Given the description of an element on the screen output the (x, y) to click on. 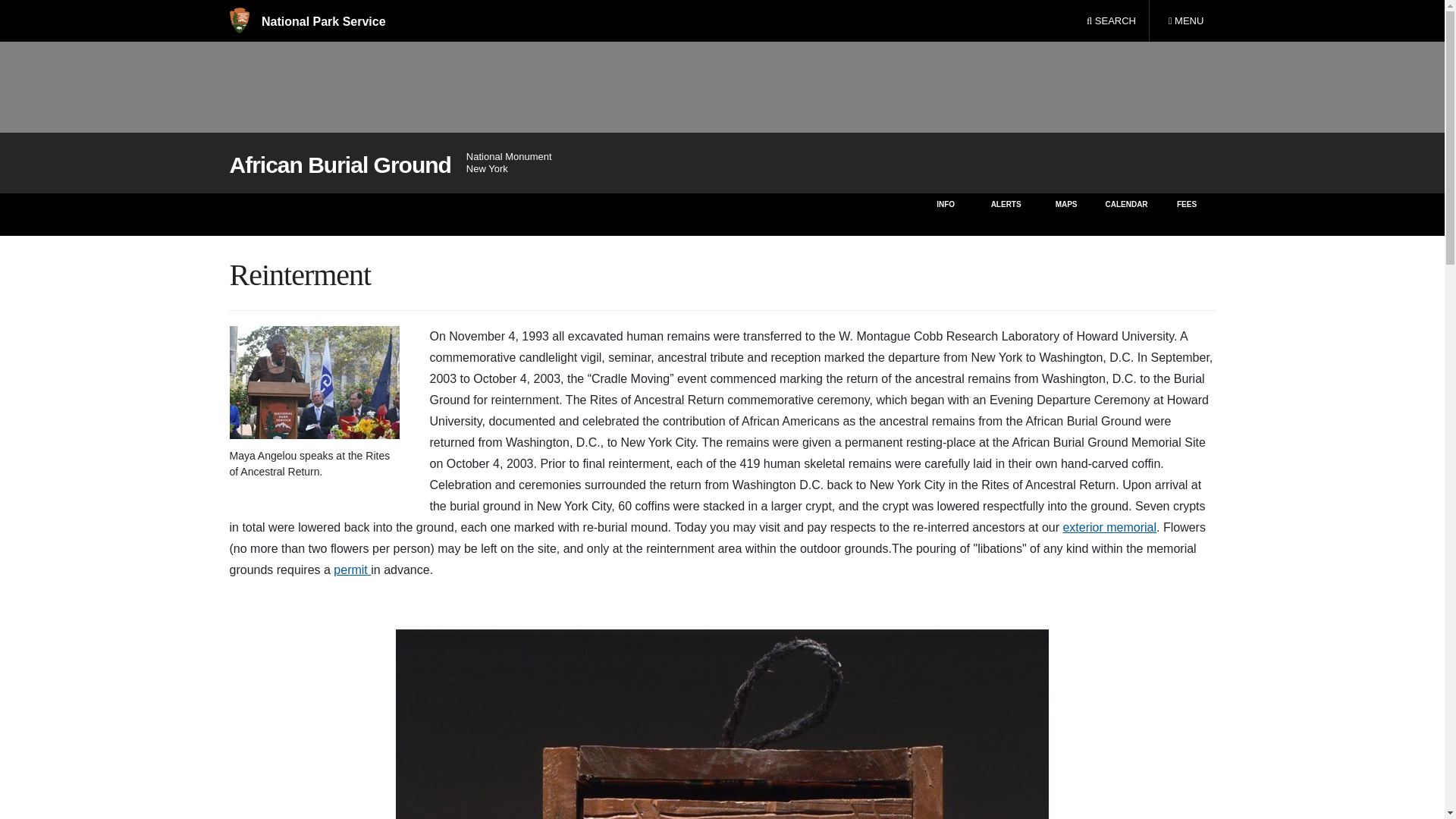
African Burial Ground (338, 164)
exterior memorial (1109, 526)
Reburial Coffin (722, 724)
National Park Service (307, 20)
CALENDAR (1125, 214)
permit (352, 569)
SEARCH (1111, 20)
MAPS (1185, 20)
ALERTS (1066, 214)
